Given the description of an element on the screen output the (x, y) to click on. 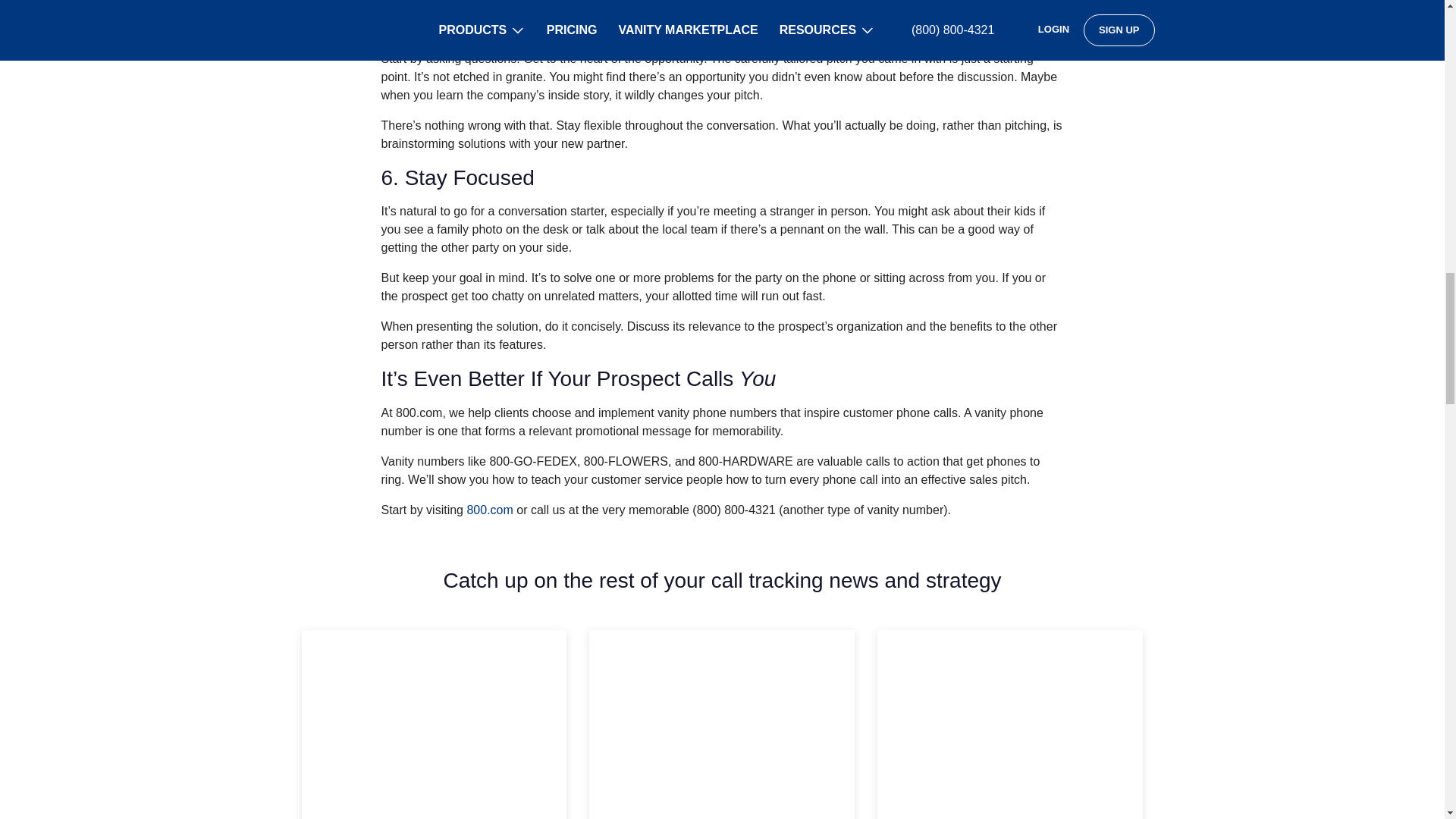
800.com (488, 509)
